Given the description of an element on the screen output the (x, y) to click on. 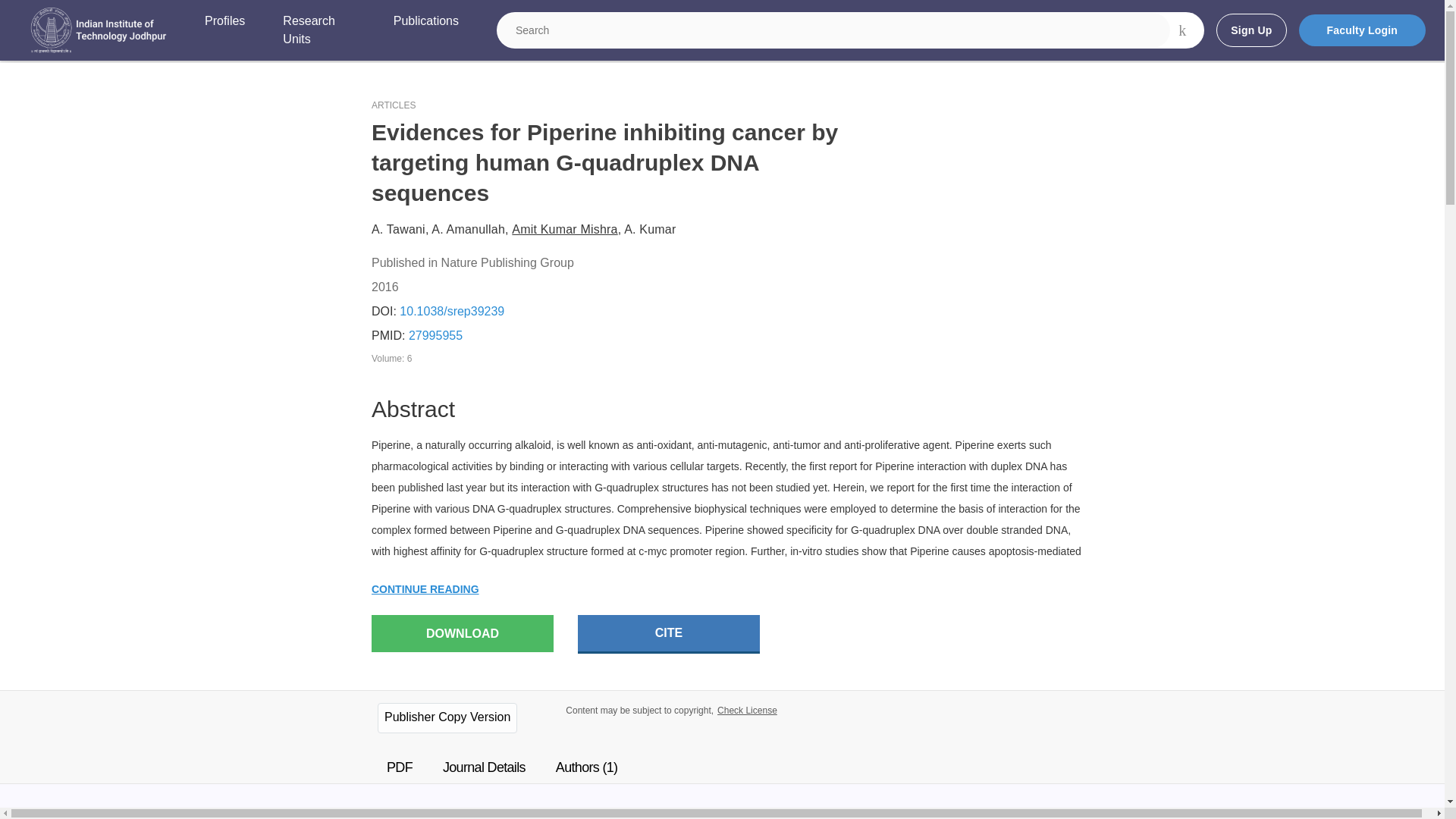
27995955 (436, 335)
Profiles (224, 30)
Faculty Login (1361, 29)
Check License (747, 710)
CITE (669, 634)
PDF (399, 766)
Publications (425, 30)
Amit Kumar Mishra (564, 228)
DOWNLOAD (462, 633)
Sign Up (1250, 29)
Research Units (318, 30)
Journal Details (484, 766)
Institution logo (98, 30)
